Given the description of an element on the screen output the (x, y) to click on. 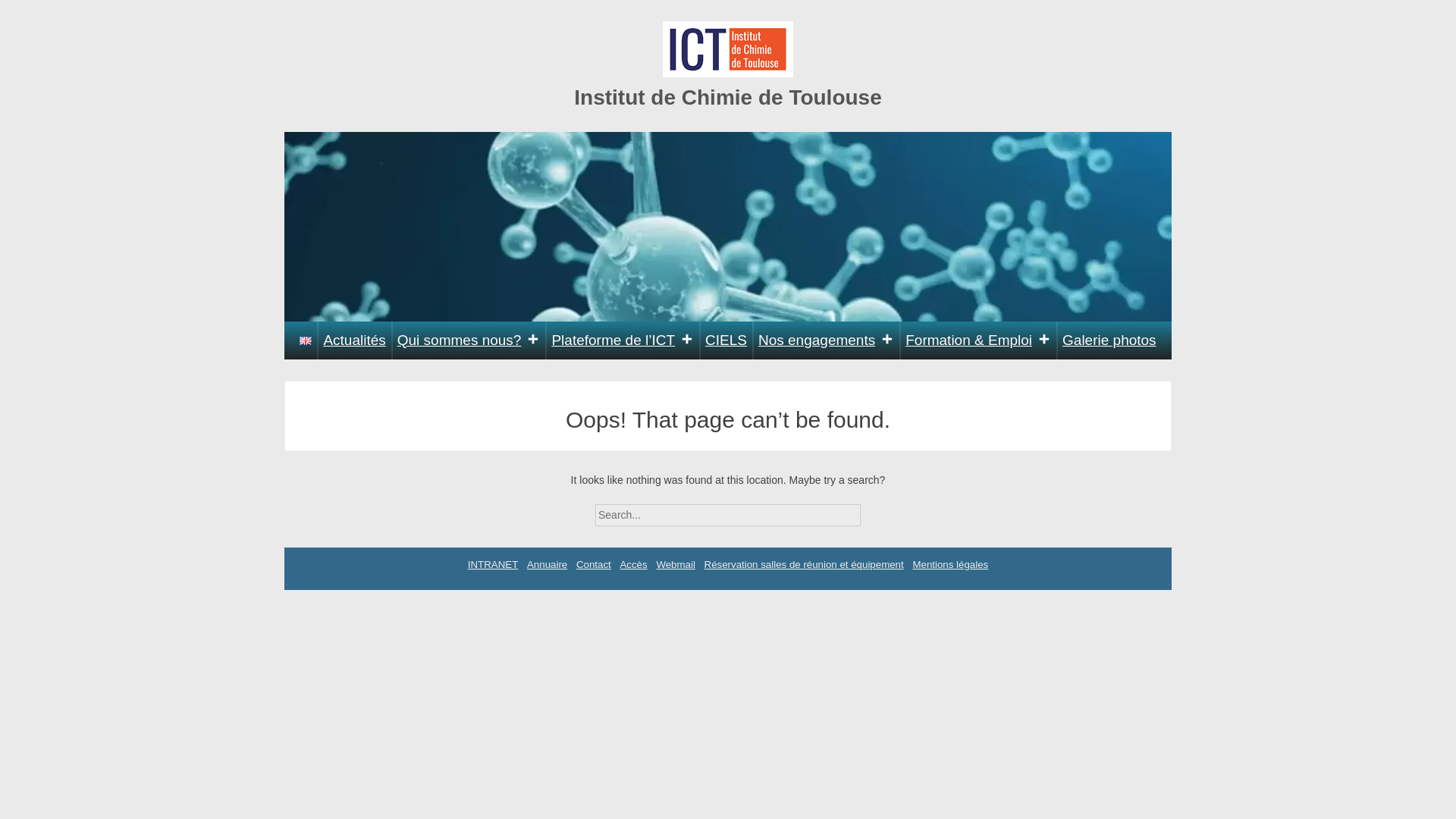
Search (873, 509)
CIELS (726, 340)
Institut de Chimie de Toulouse (727, 97)
Search (873, 509)
Qui sommes nous? (468, 340)
Nos engagements (825, 340)
